Given the description of an element on the screen output the (x, y) to click on. 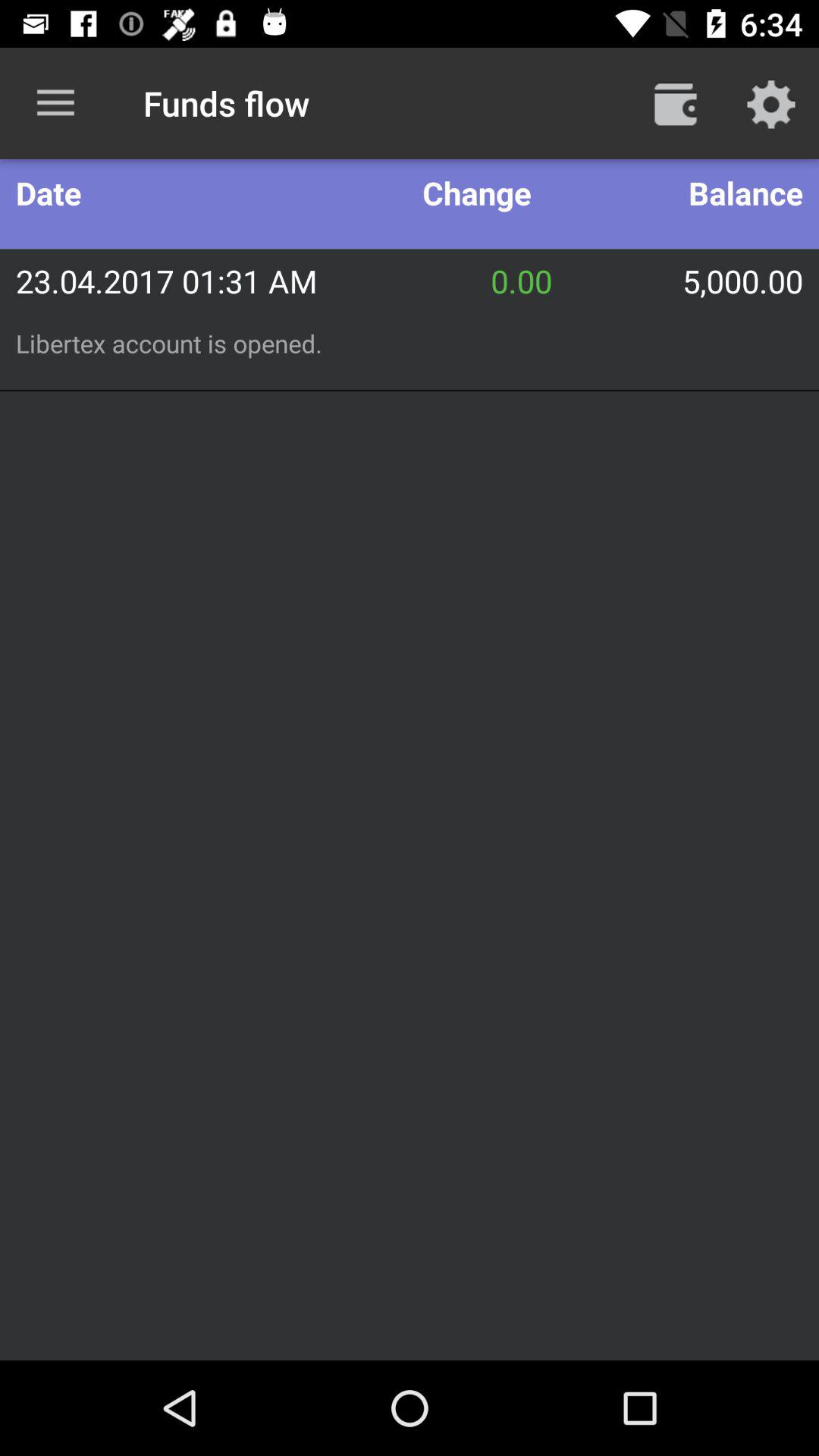
click the item above the date  icon (55, 103)
